Given the description of an element on the screen output the (x, y) to click on. 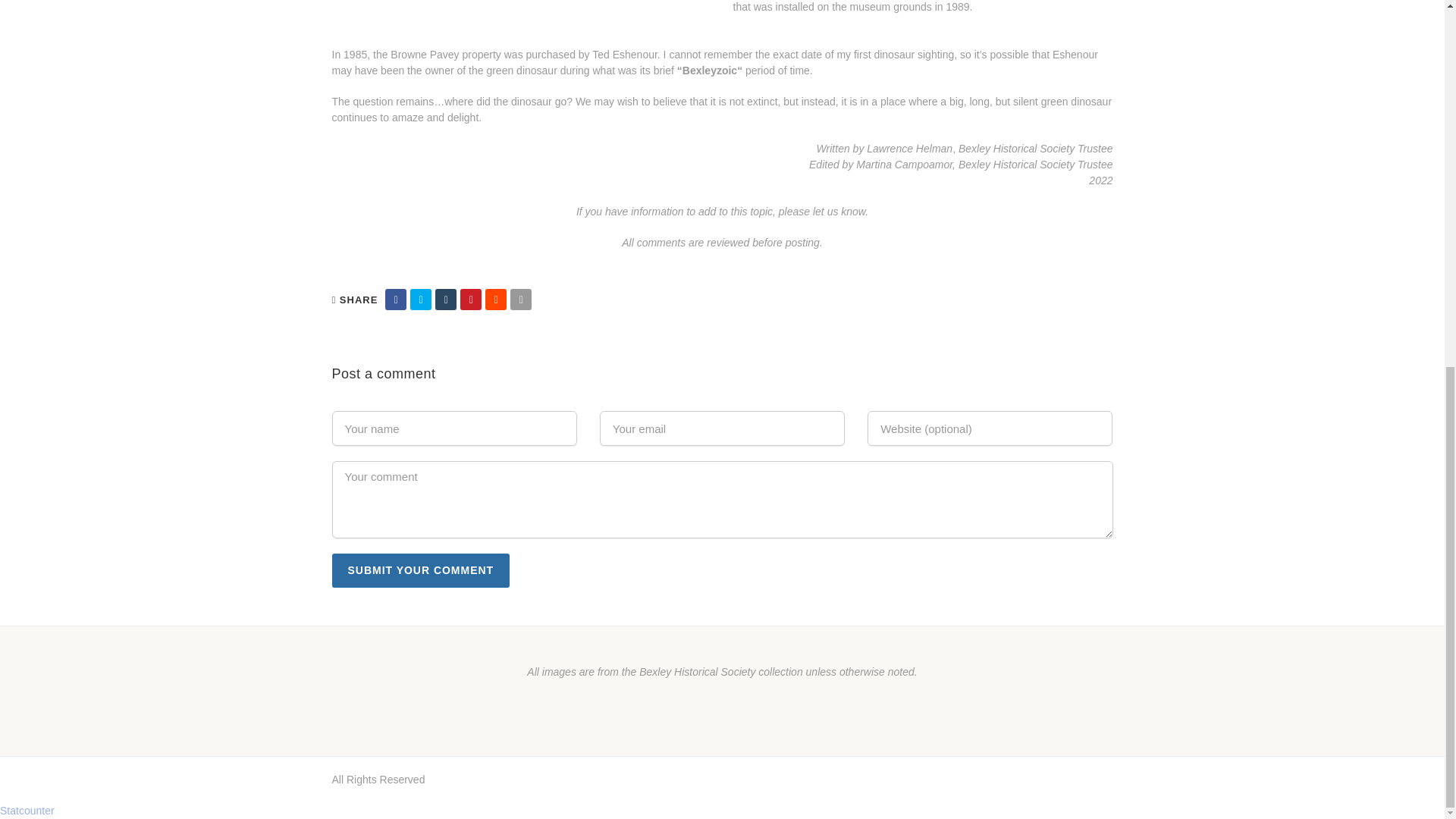
Tweet (420, 298)
Pin it (470, 298)
Submit your comment (421, 570)
Email (521, 298)
Post to Tumblr (446, 298)
Submit your comment (421, 570)
Statcounter (27, 810)
Share on Facebook (395, 298)
Submit to Reddit (495, 298)
